Given the description of an element on the screen output the (x, y) to click on. 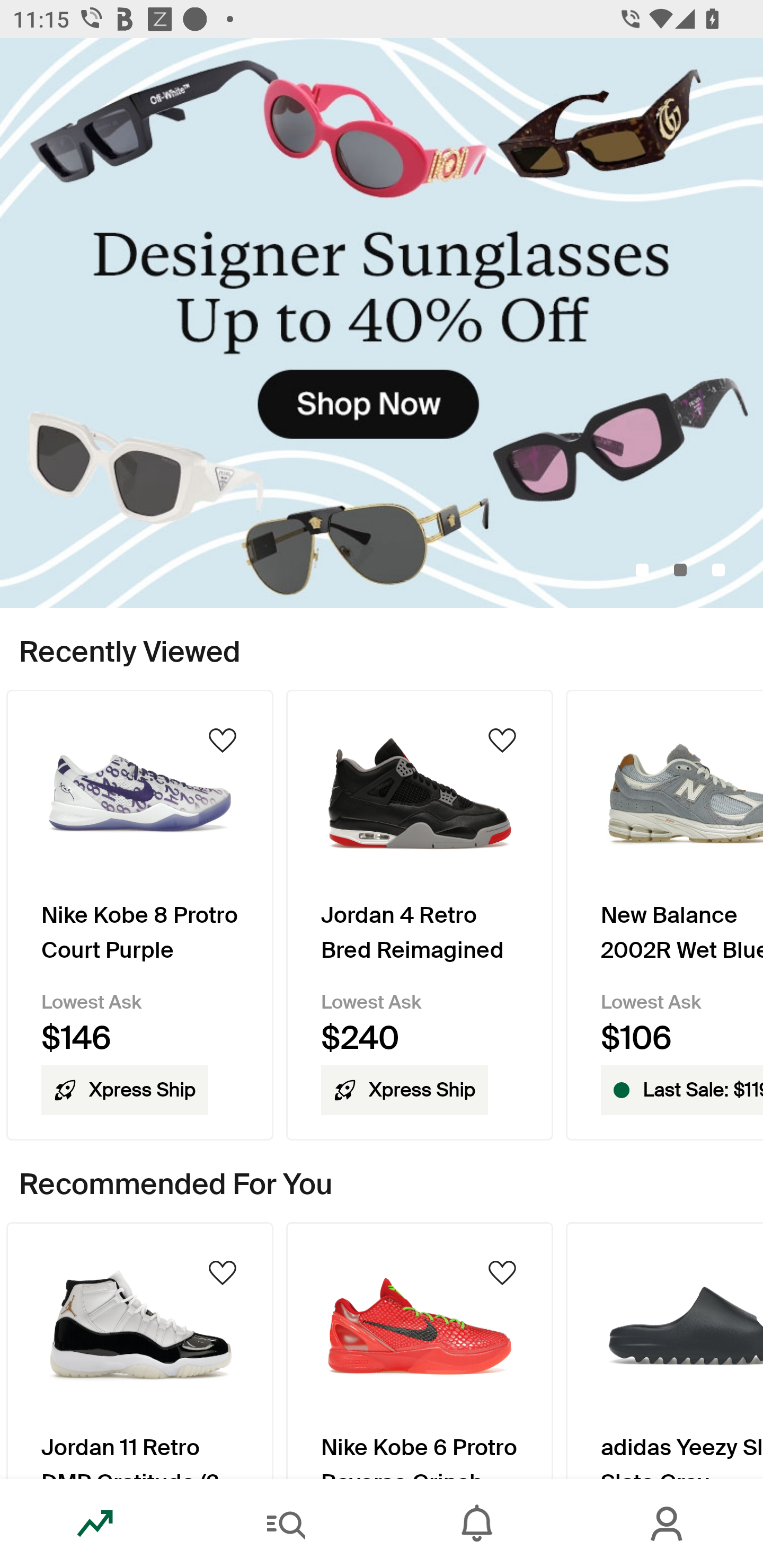
DesignerSunglassesUpto40_Off_Primary_Mobile.jpg (381, 322)
Product Image Jordan 11 Retro DMP Gratitude (2023) (139, 1349)
Product Image Nike Kobe 6 Protro Reverse Grinch (419, 1349)
Product Image adidas Yeezy Slide Slate Grey (664, 1349)
Search (285, 1523)
Inbox (476, 1523)
Account (667, 1523)
